Given the description of an element on the screen output the (x, y) to click on. 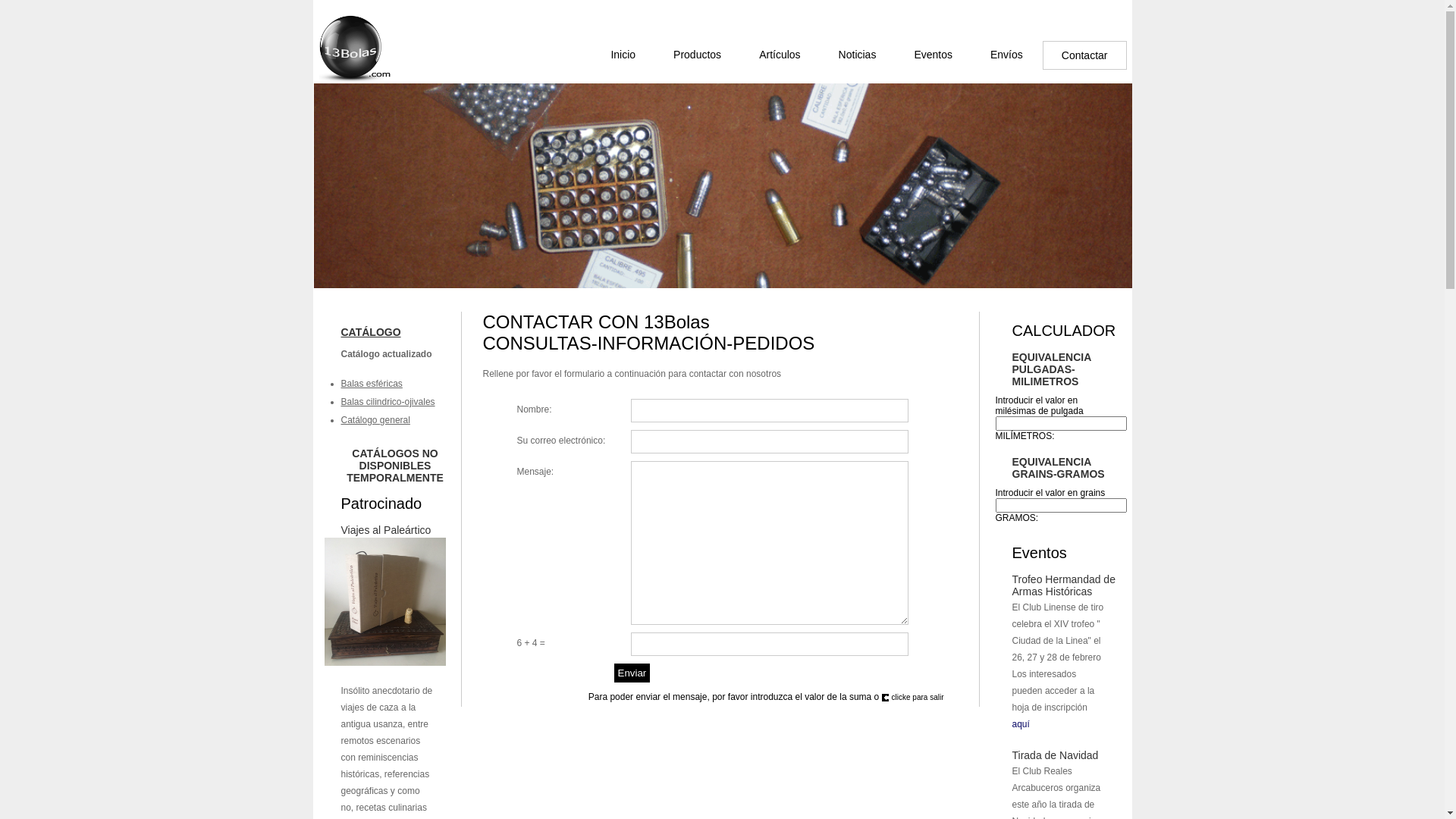
Eventos Element type: text (932, 54)
Introducir el valor en grains Element type: text (1049, 492)
Productos Element type: text (697, 54)
Contactar Element type: text (1084, 54)
Balas cilindrico-ojivales Element type: text (388, 401)
Enviar Element type: text (632, 672)
clicke para salir Element type: text (912, 697)
GRAMOS: Element type: text (1016, 517)
Inicio Element type: text (622, 54)
Noticias Element type: text (857, 54)
